Given the description of an element on the screen output the (x, y) to click on. 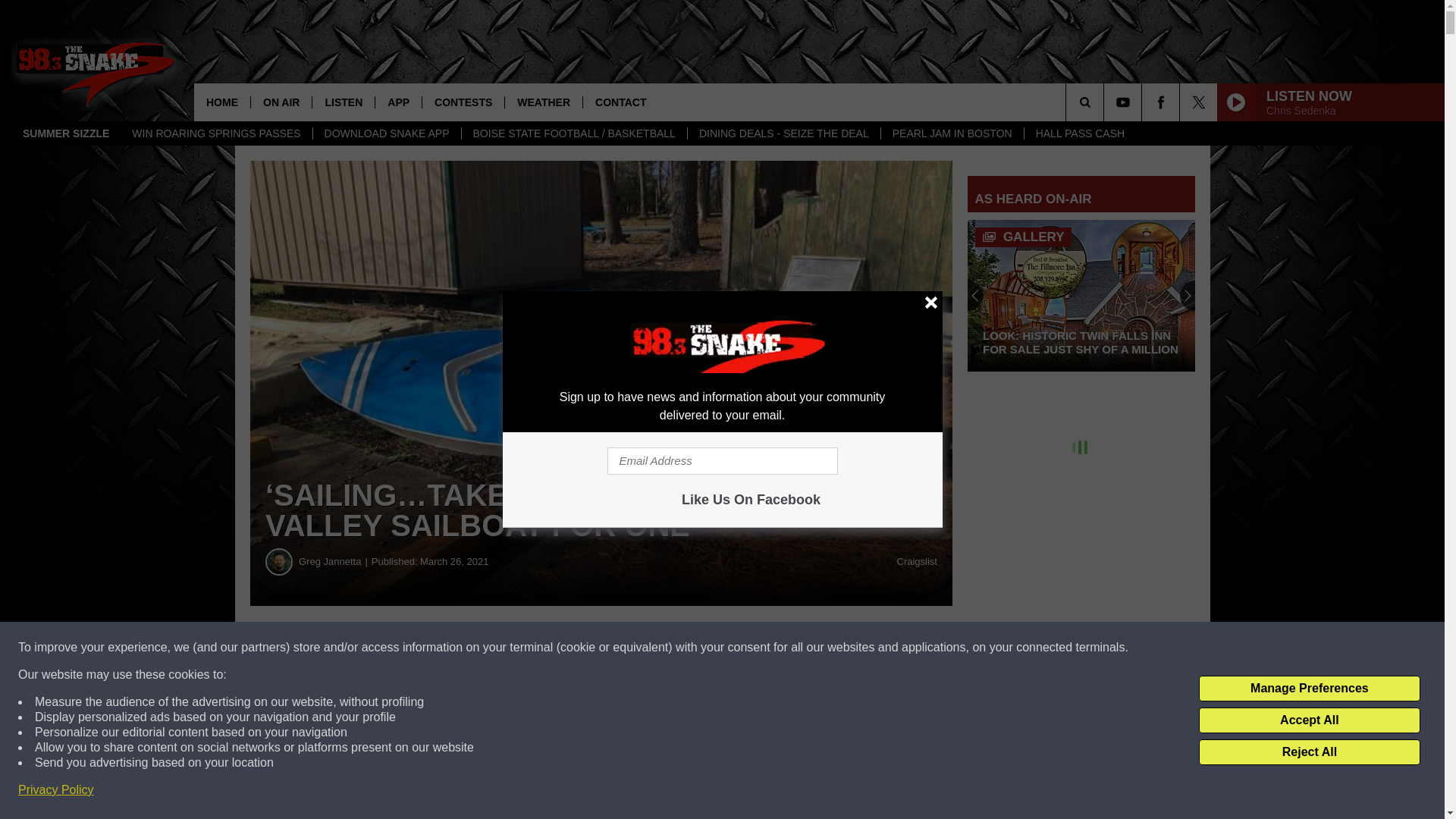
Reject All (1309, 751)
WIN ROARING SPRINGS PASSES (215, 133)
Email Address (722, 461)
Share on Facebook (460, 647)
DINING DEALS - SEIZE THE DEAL (783, 133)
SUMMER SIZZLE (65, 133)
Manage Preferences (1309, 688)
SEARCH (1106, 102)
Privacy Policy (55, 789)
APP (398, 102)
Accept All (1309, 720)
HALL PASS CASH (1080, 133)
ON AIR (280, 102)
PEARL JAM IN BOSTON (951, 133)
LISTEN (342, 102)
